Given the description of an element on the screen output the (x, y) to click on. 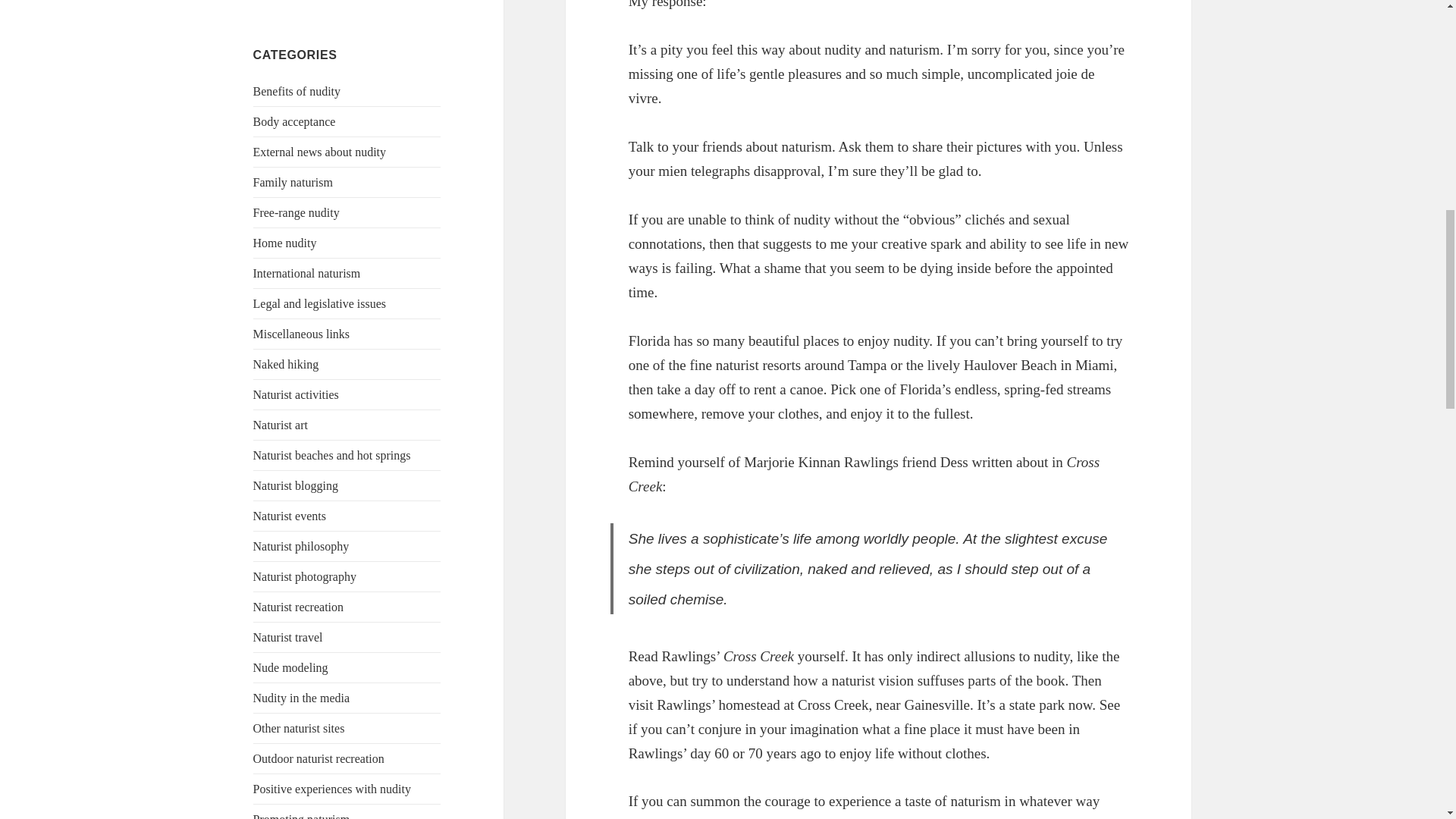
Outdoor naturist recreation (318, 758)
Naturist art (280, 424)
Naturist travel (288, 636)
Naturist beaches and hot springs (331, 454)
Naturist blogging (295, 485)
Nudity in the media (301, 697)
Miscellaneous links (301, 333)
Body acceptance (294, 121)
Naturist activities (296, 394)
Benefits of nudity (296, 91)
Naturist recreation (298, 606)
Promoting naturism (301, 816)
Other naturist sites (299, 727)
Naked hiking (285, 364)
Naturist events (289, 515)
